Given the description of an element on the screen output the (x, y) to click on. 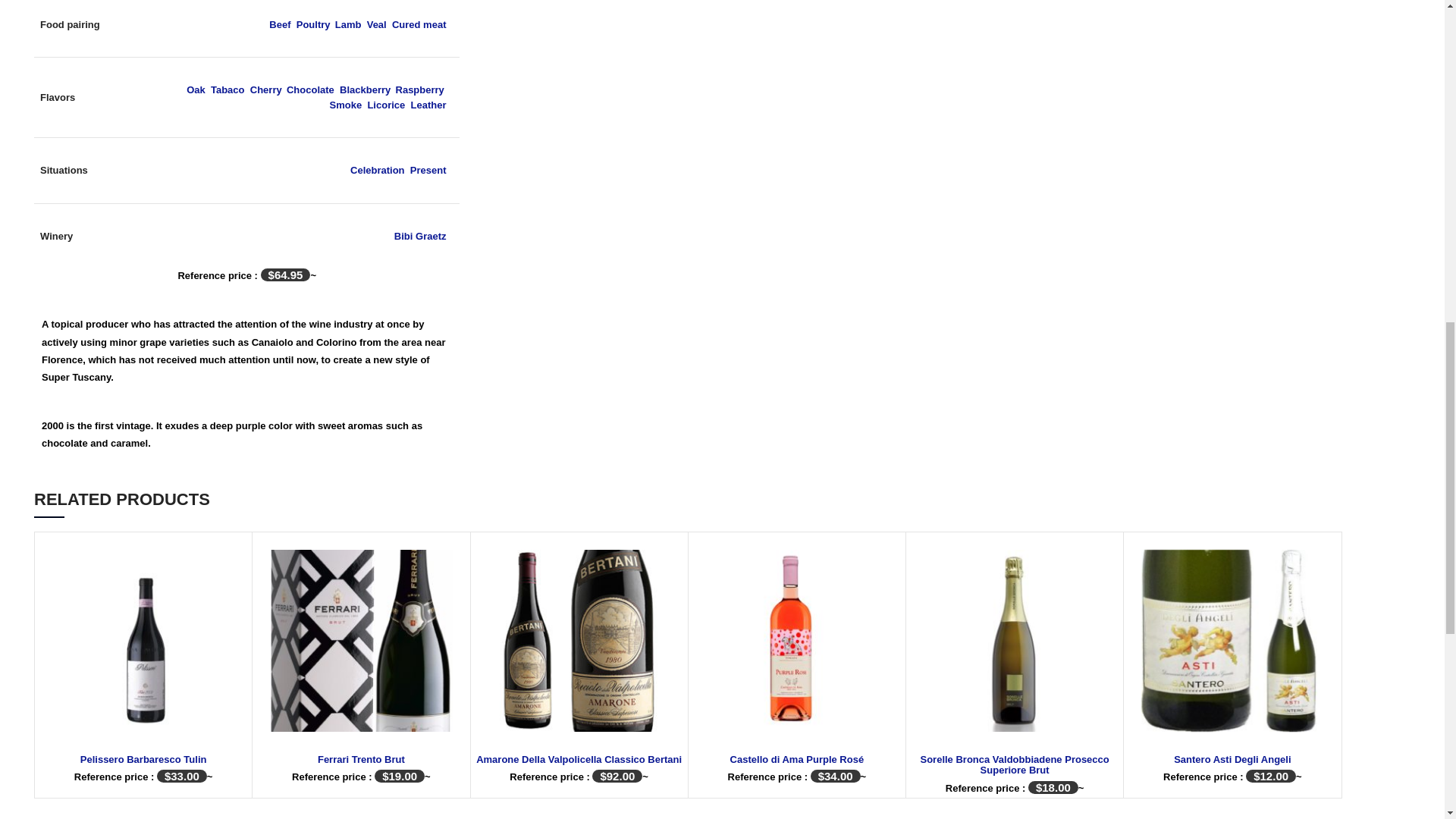
Lamb (347, 24)
Beef (279, 24)
Poultry (313, 24)
Cherry (265, 89)
Present (428, 170)
Smoke (346, 104)
Veal (376, 24)
Leather (428, 104)
Chocolate (310, 89)
Bibi Graetz (420, 235)
Oak (195, 89)
Raspberry (420, 89)
Blackberry (364, 89)
Celebration (377, 170)
Tabaco (227, 89)
